Given the description of an element on the screen output the (x, y) to click on. 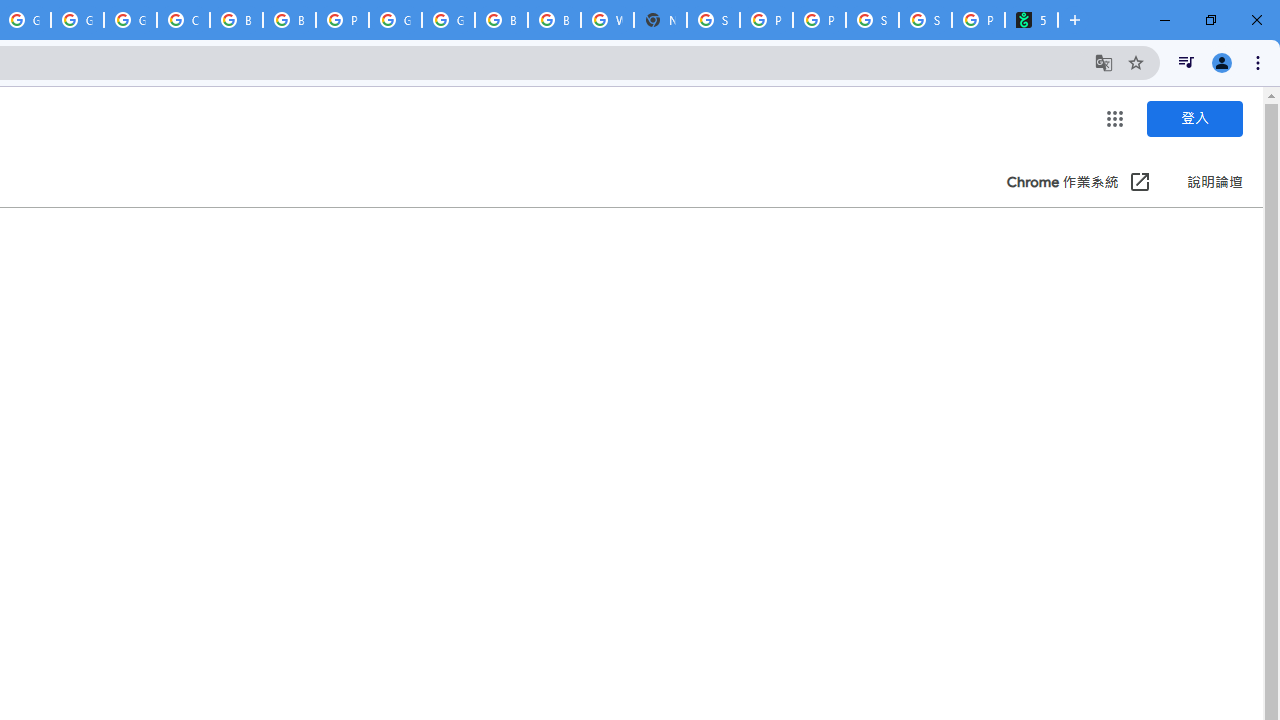
Browse Chrome as a guest - Computer - Google Chrome Help (554, 20)
Control your music, videos, and more (1185, 62)
Translate this page (1103, 62)
Sign in - Google Accounts (713, 20)
Browse Chrome as a guest - Computer - Google Chrome Help (501, 20)
Browse Chrome as a guest - Computer - Google Chrome Help (289, 20)
